Given the description of an element on the screen output the (x, y) to click on. 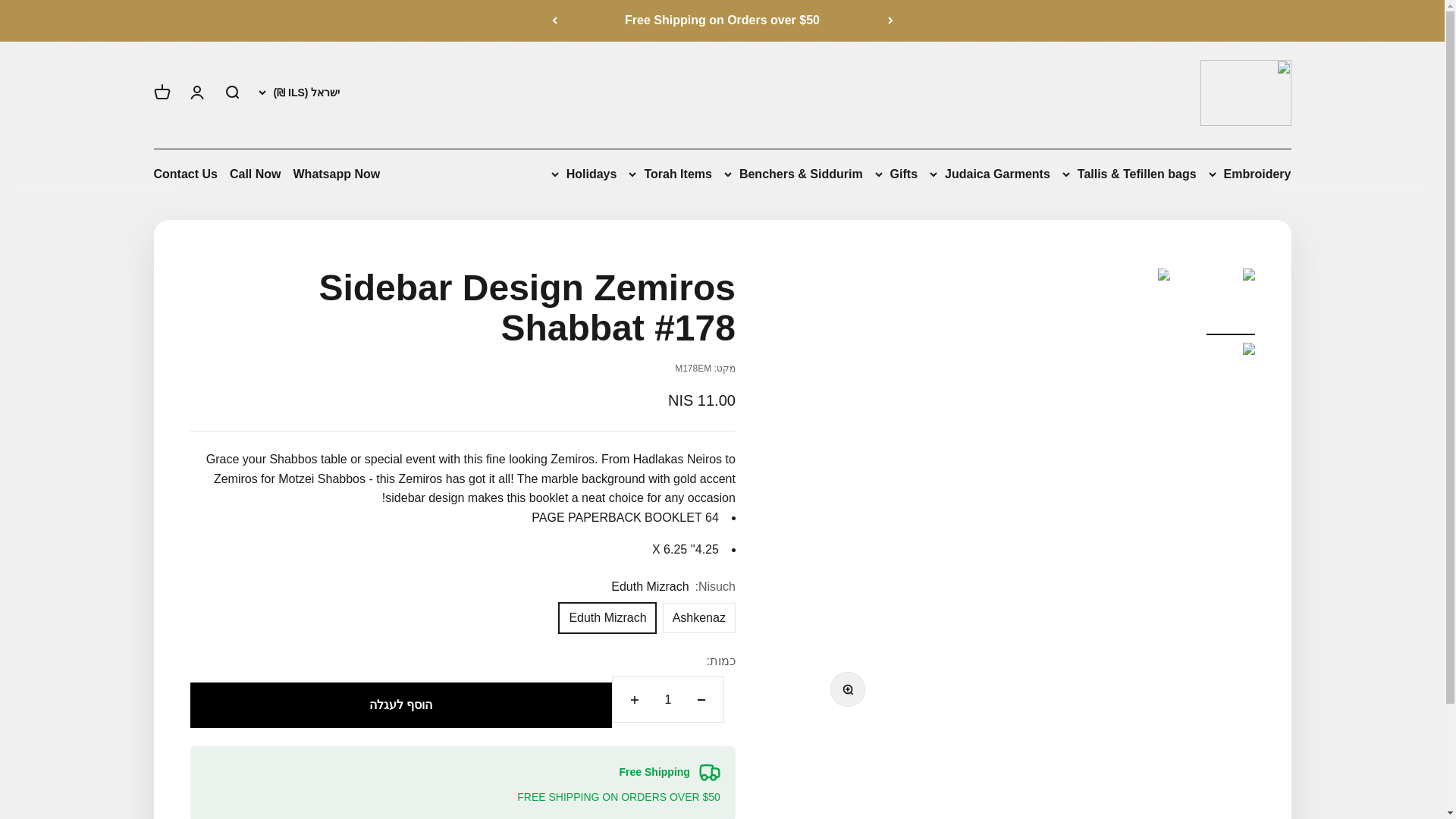
Embroidery (1249, 174)
Gifts (896, 174)
Judaica Garments (989, 174)
1 (667, 699)
